Given the description of an element on the screen output the (x, y) to click on. 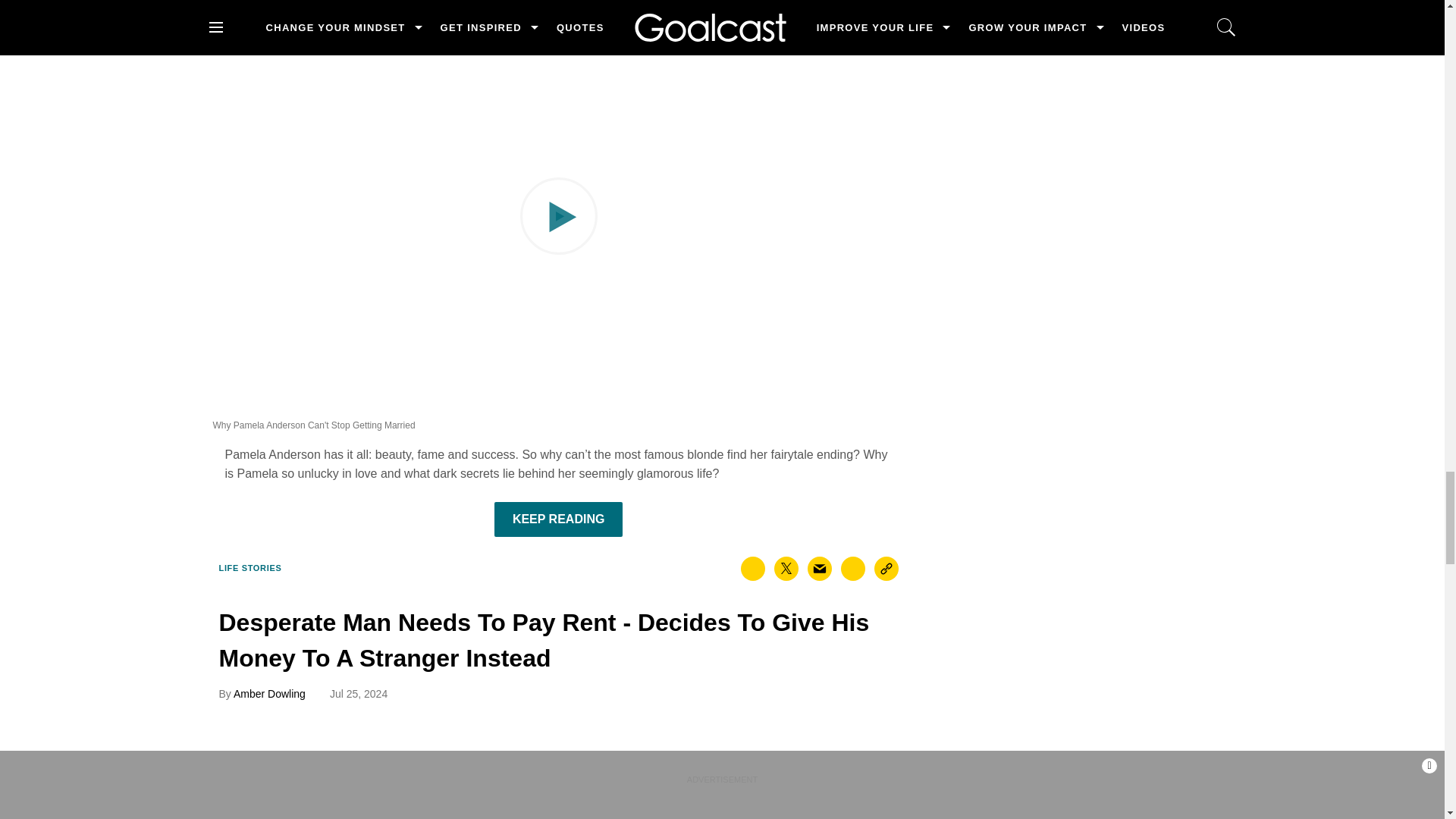
Copy this link to clipboard (886, 568)
